Given the description of an element on the screen output the (x, y) to click on. 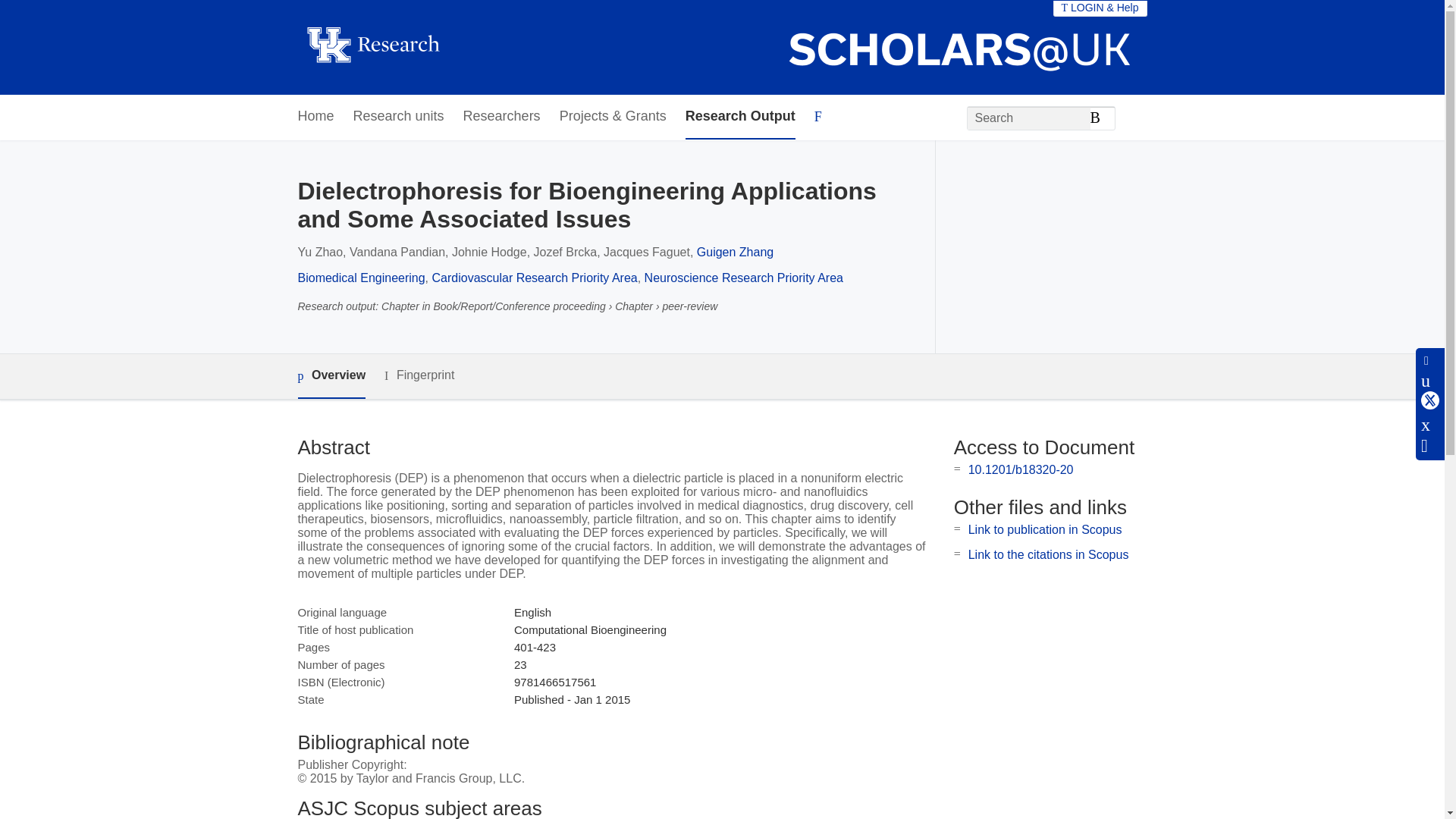
University of Kentucky Home (372, 47)
Research Output (739, 117)
Overview (331, 375)
Fingerprint (419, 375)
Biomedical Engineering (361, 277)
Link to the citations in Scopus (1048, 554)
Research units (398, 117)
Cardiovascular Research Priority Area (534, 277)
Guigen Zhang (735, 251)
Researchers (501, 117)
Neuroscience Research Priority Area (744, 277)
Link to publication in Scopus (1045, 529)
